Given the description of an element on the screen output the (x, y) to click on. 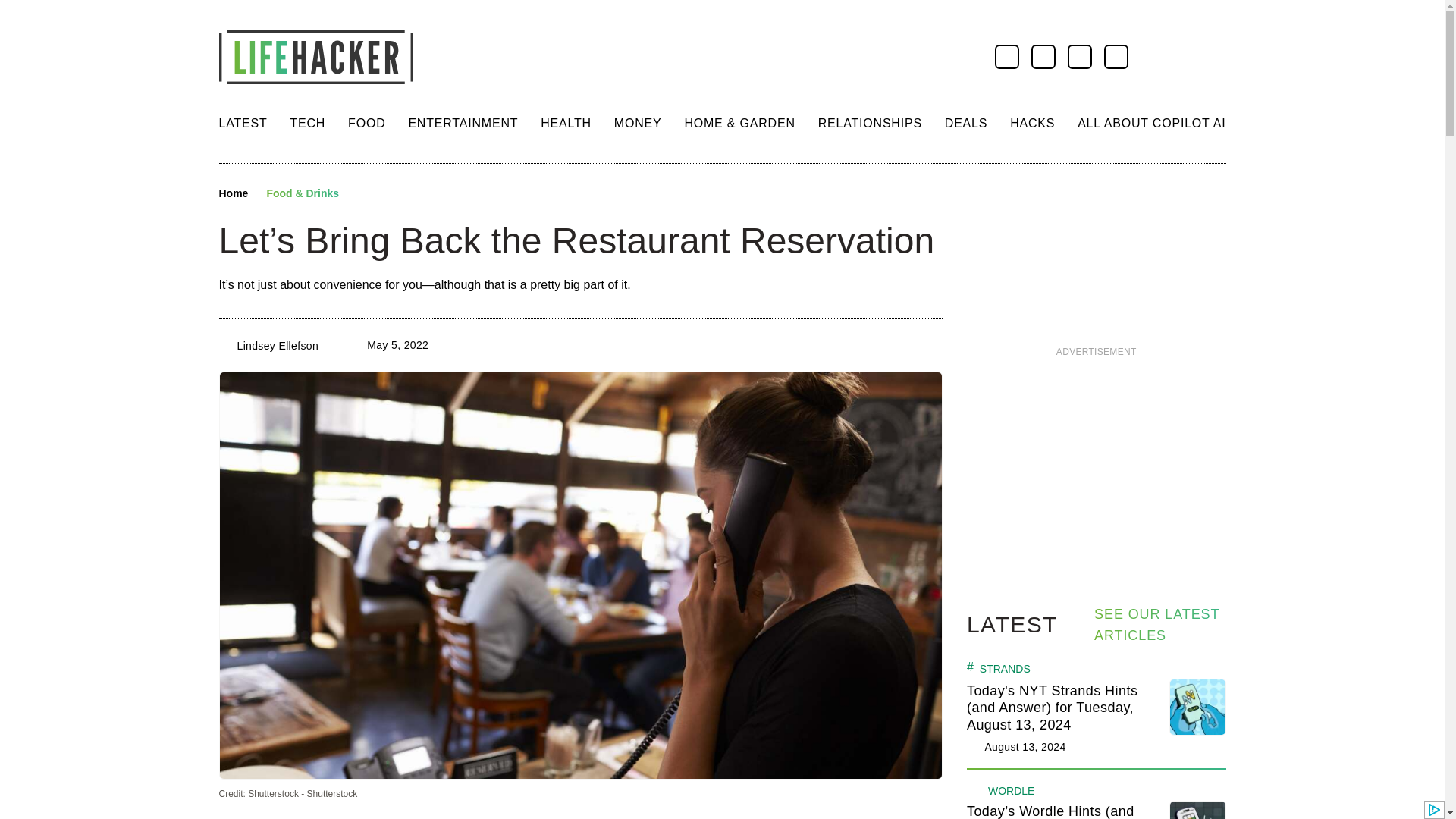
HEALTH (565, 123)
TECH (306, 123)
RELATIONSHIPS (869, 123)
DEALS (965, 123)
Home (232, 193)
Social Share (364, 193)
LATEST (242, 123)
FOOD (366, 123)
ENTERTAINMENT (462, 123)
ALL ABOUT COPILOT AI (1151, 123)
